Given the description of an element on the screen output the (x, y) to click on. 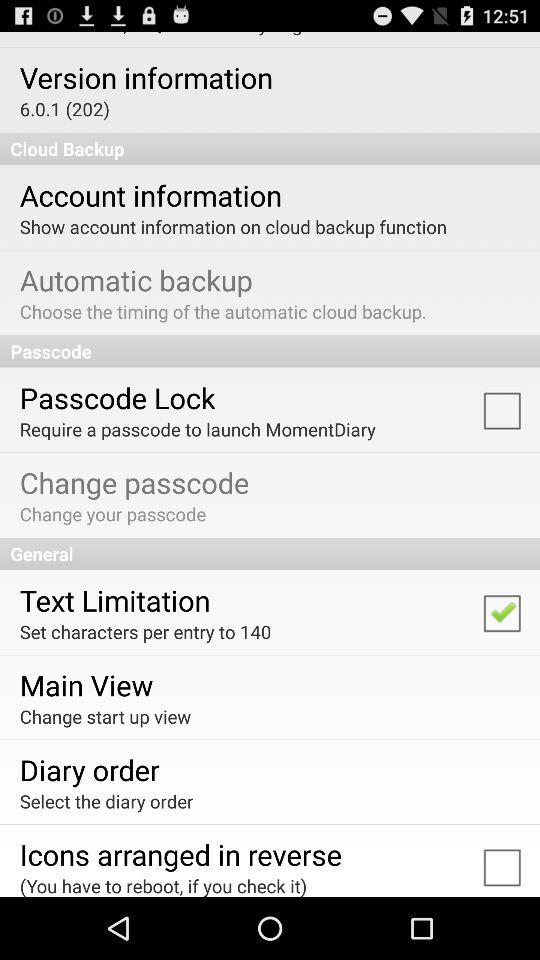
tap the set characters per item (145, 631)
